Given the description of an element on the screen output the (x, y) to click on. 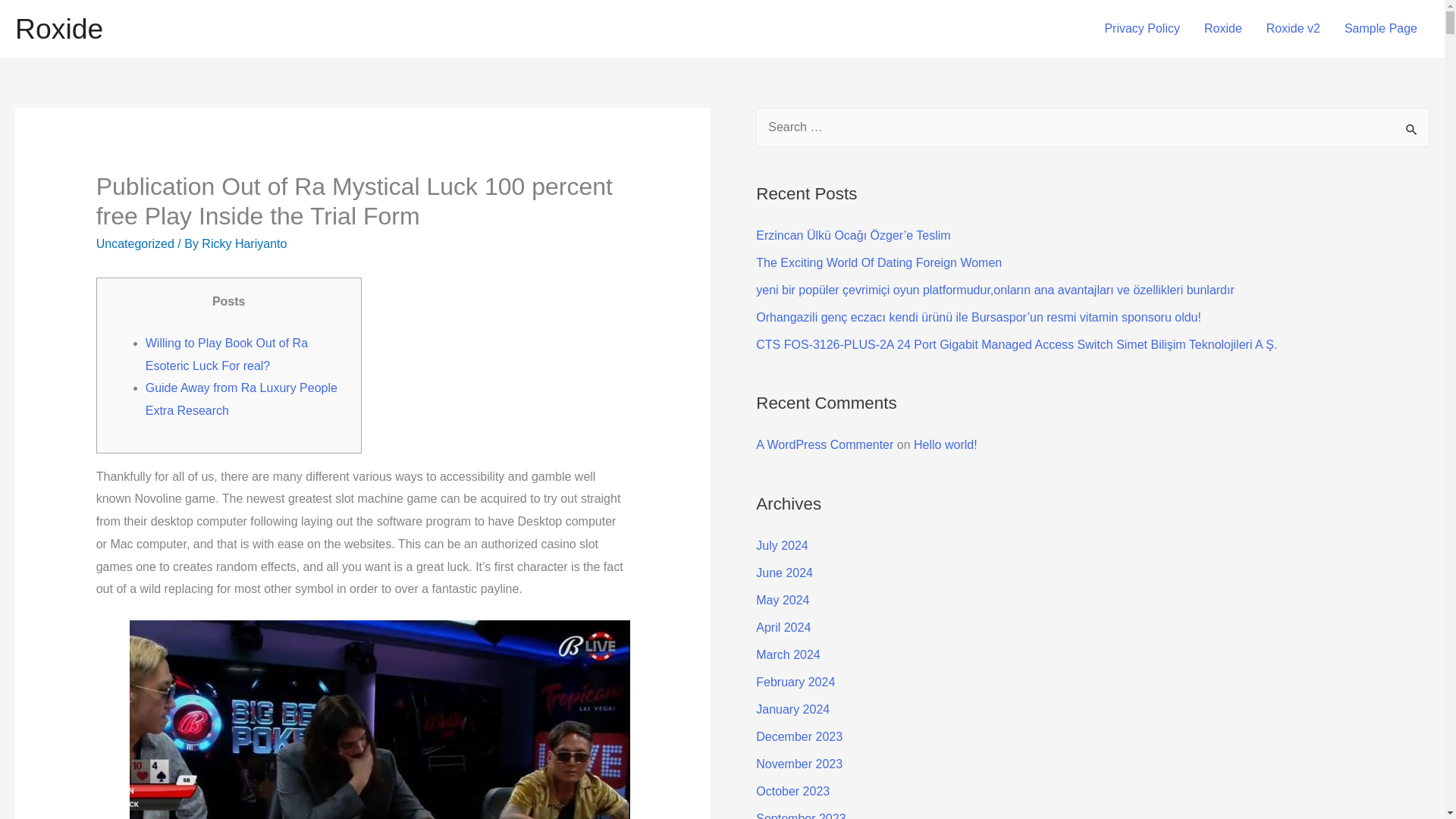
The Exciting World Of Dating Foreign Women (878, 262)
Uncategorized (135, 243)
March 2024 (788, 654)
June 2024 (783, 572)
February 2024 (794, 681)
November 2023 (799, 763)
April 2024 (782, 626)
Guide Away from Ra Luxury People Extra Research (241, 398)
May 2024 (782, 599)
December 2023 (799, 736)
